Given the description of an element on the screen output the (x, y) to click on. 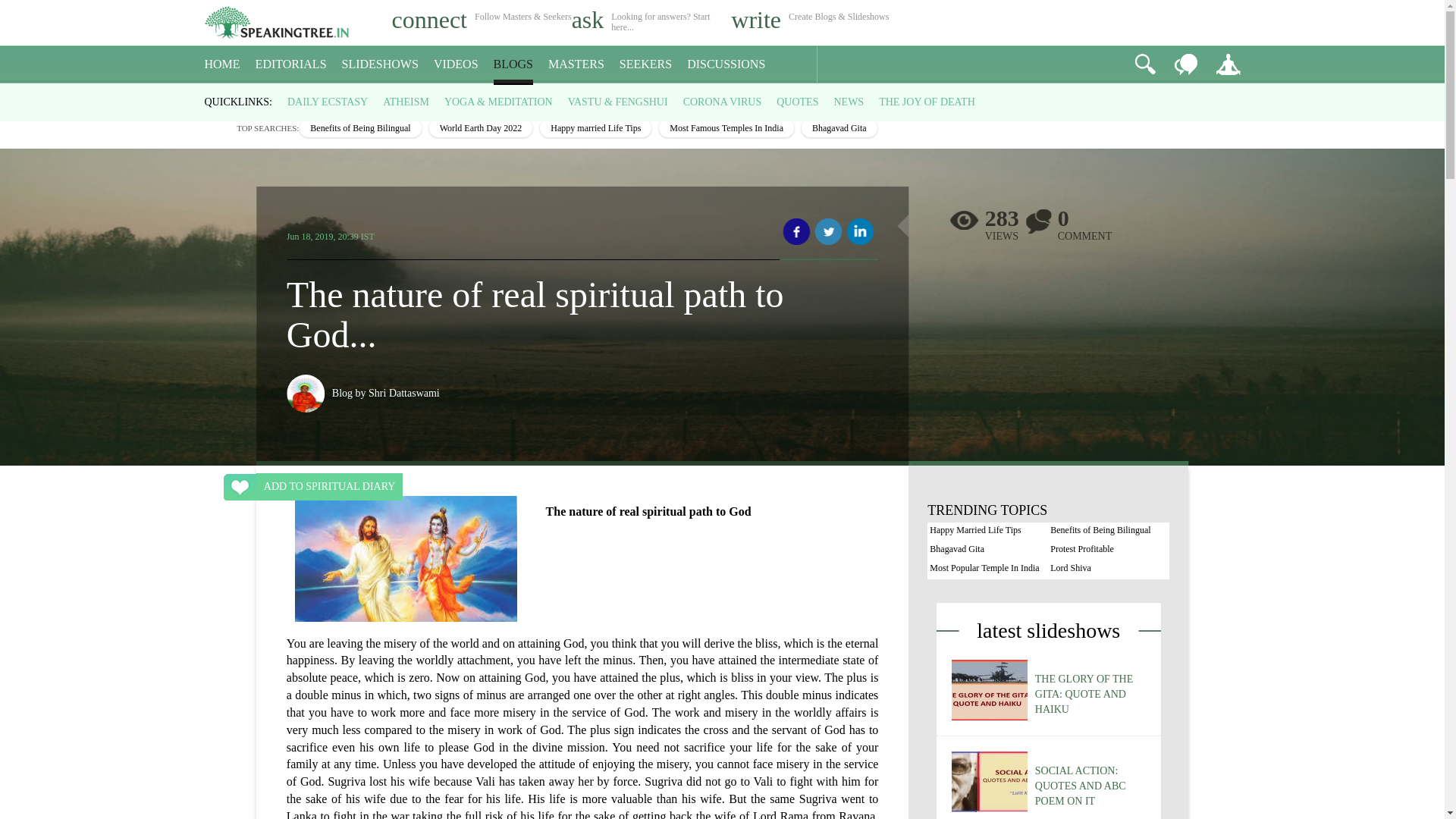
Share on LinkedIn (860, 231)
EDITORIALS (291, 64)
DAILY ECSTASY (327, 101)
DISCUSSIONS (726, 64)
QUOTES (797, 101)
Share on Twitter (828, 231)
Speaking Tree (216, 96)
Blogs (251, 96)
Share on Facebook (796, 231)
VIDEOS (456, 64)
